Given the description of an element on the screen output the (x, y) to click on. 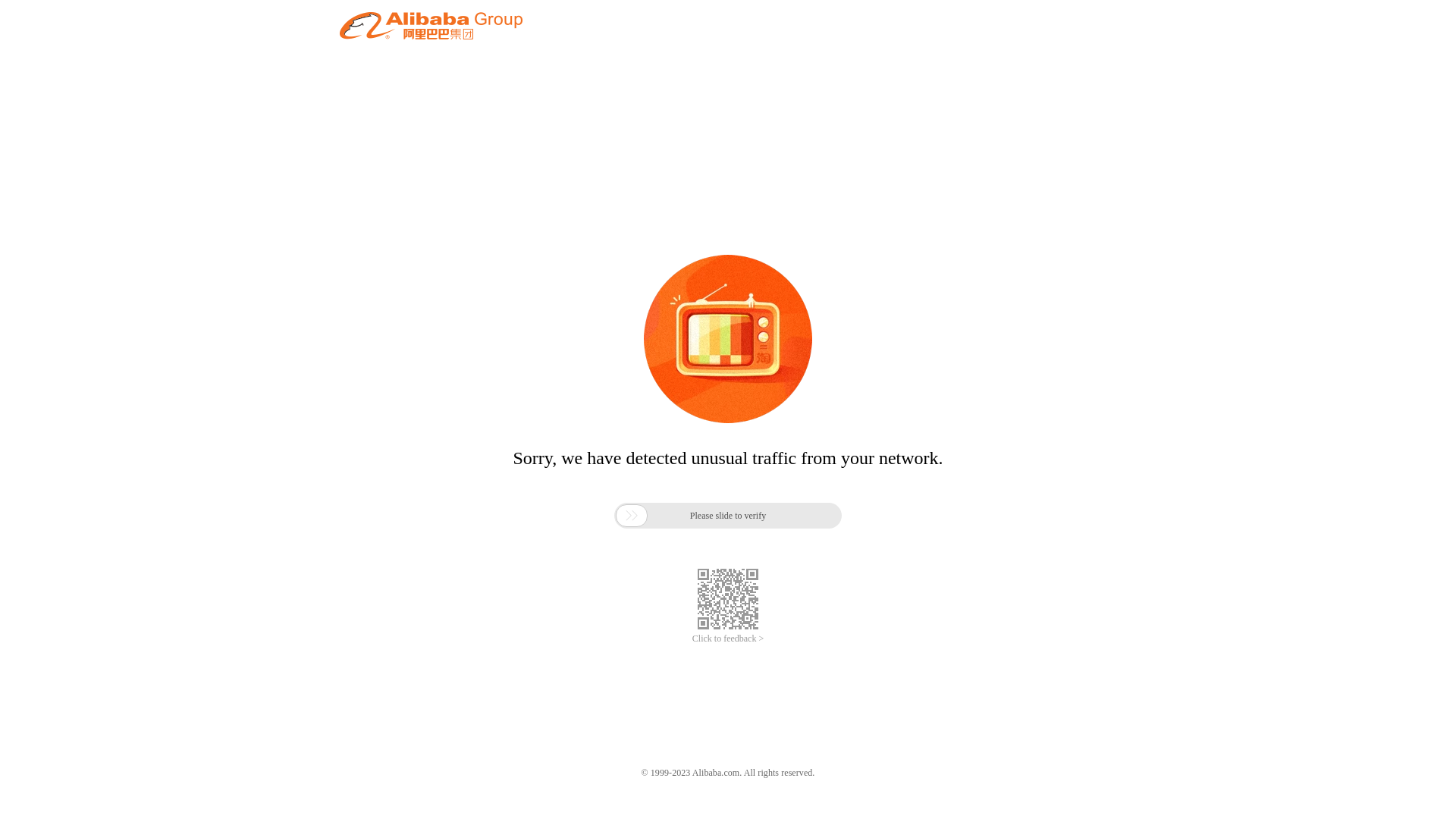
Click to feedback > Element type: text (727, 638)
